Given the description of an element on the screen output the (x, y) to click on. 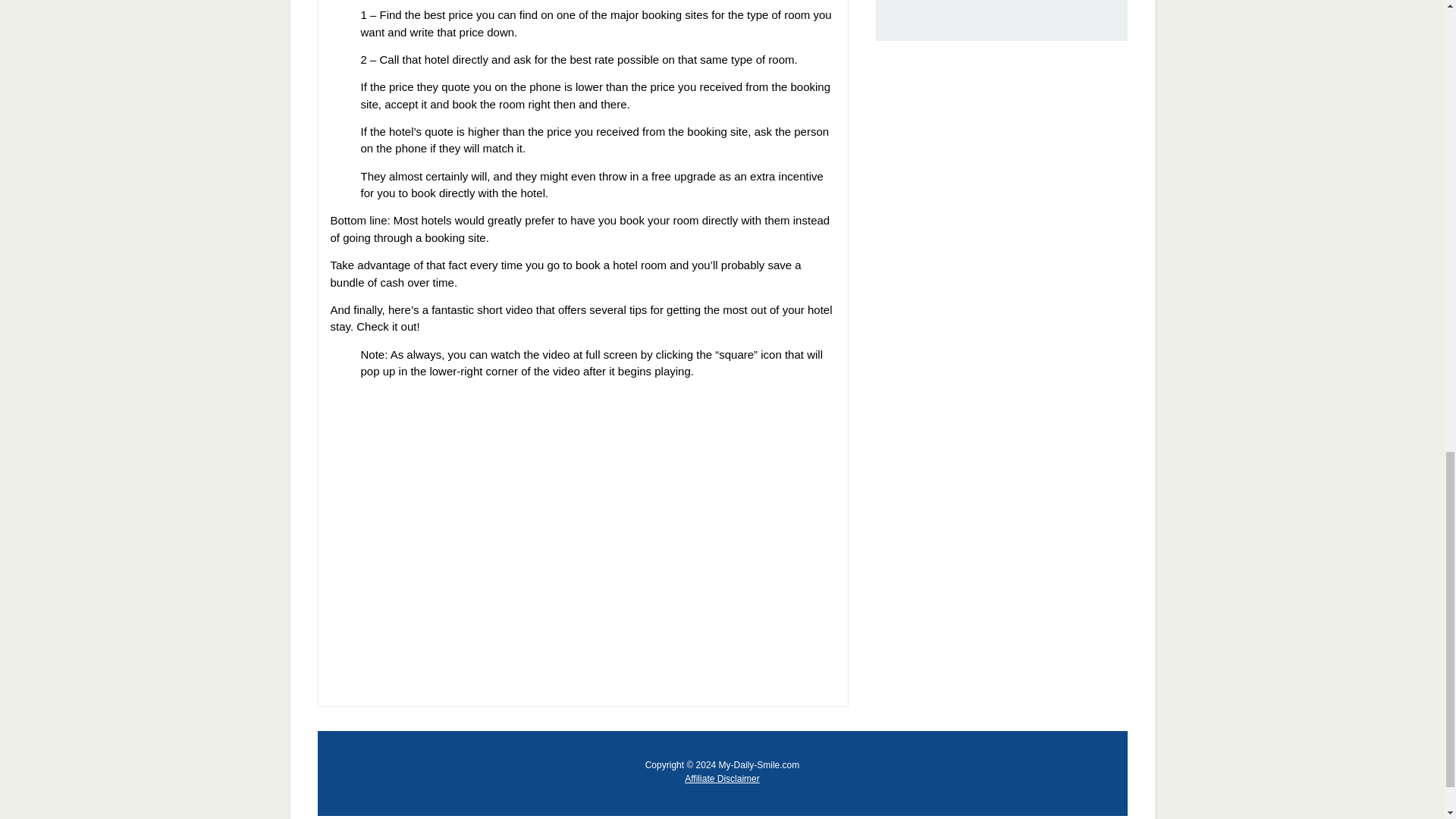
Affiliate Disclaimer (721, 778)
